Given the description of an element on the screen output the (x, y) to click on. 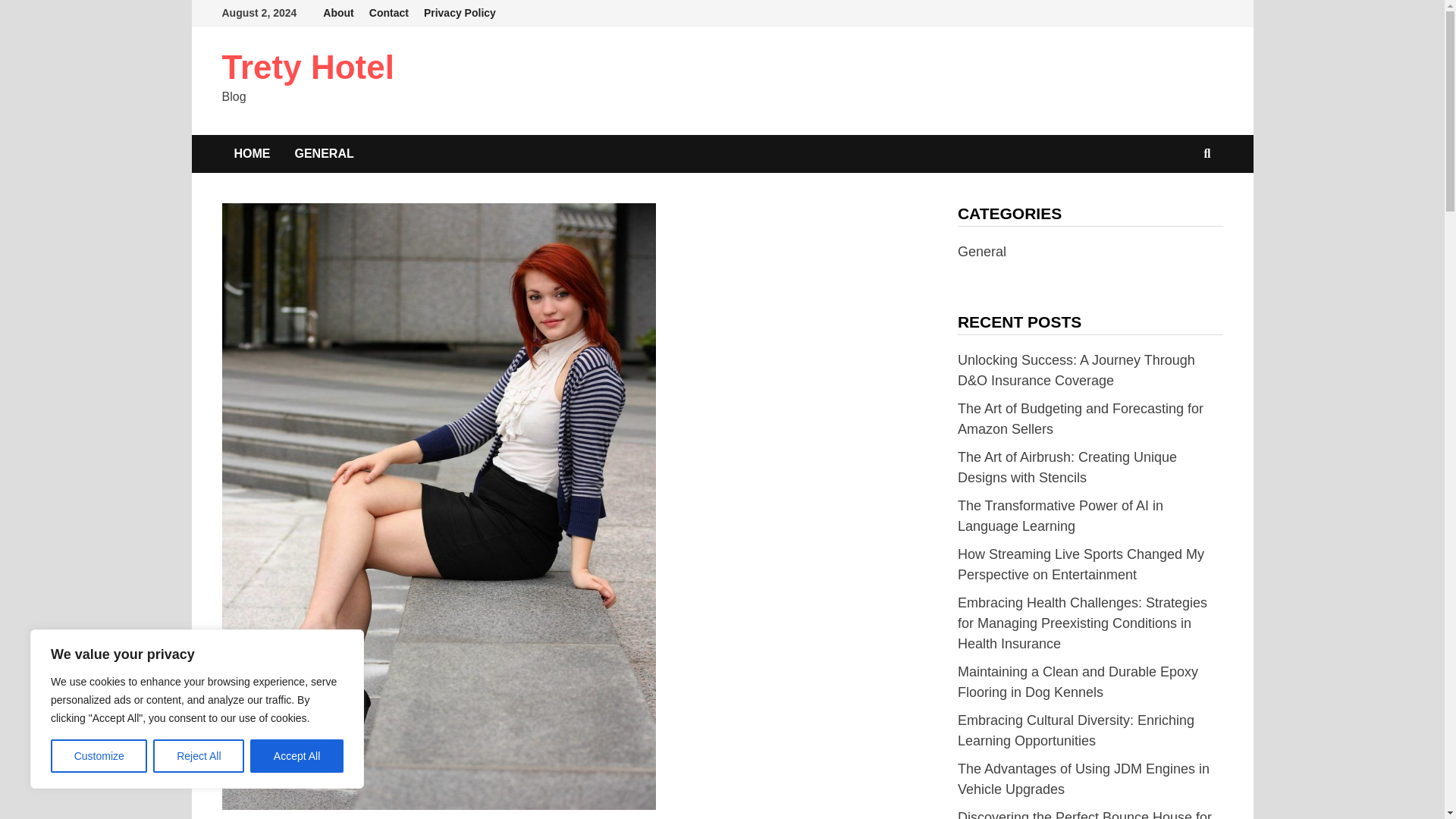
HOME (251, 153)
About (338, 13)
Privacy Policy (459, 13)
Contact (388, 13)
GENERAL (323, 153)
Reject All (198, 756)
Accept All (296, 756)
Customize (98, 756)
Trety Hotel (307, 66)
